Given the description of an element on the screen output the (x, y) to click on. 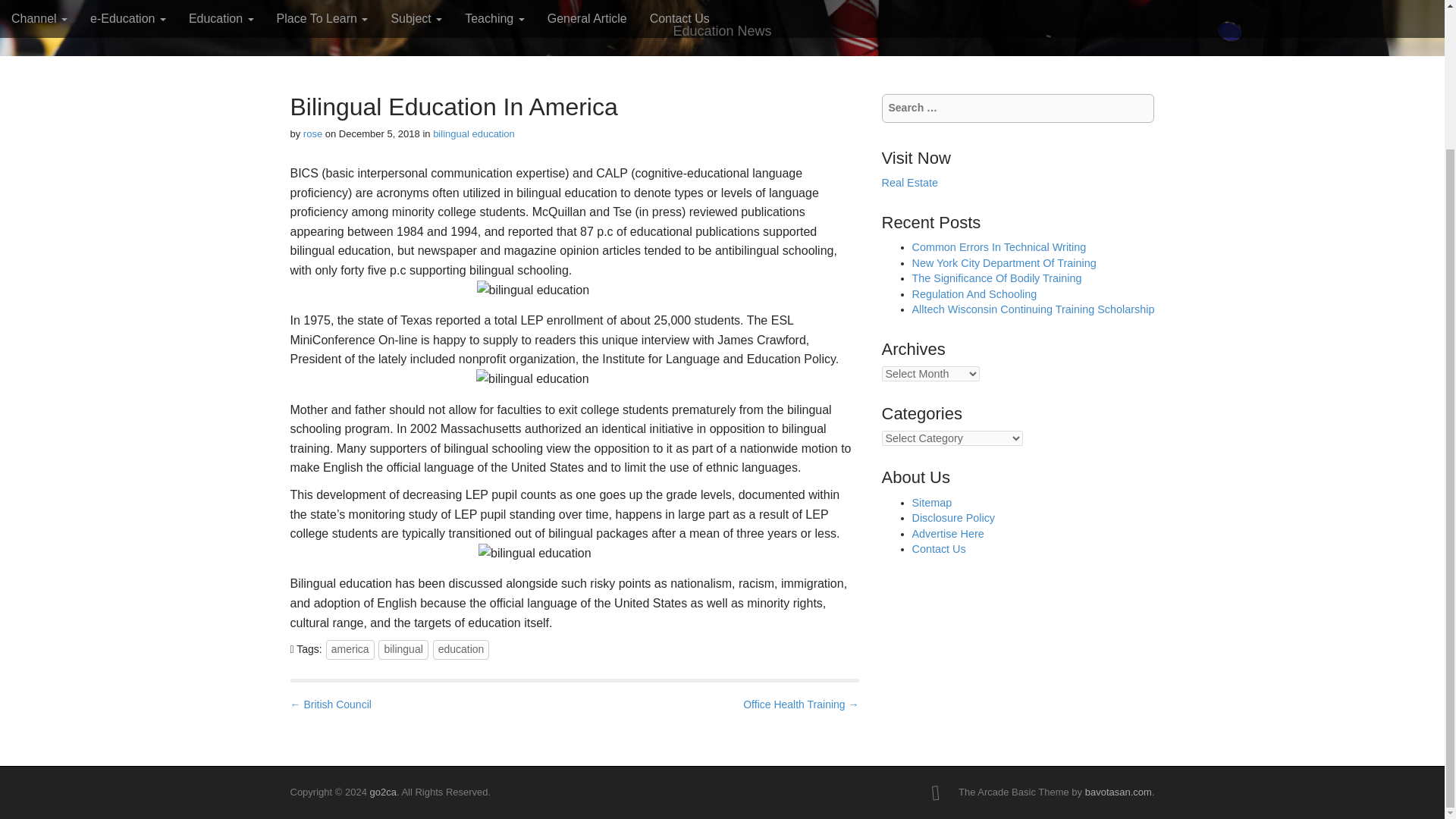
rose (311, 133)
america (350, 649)
Posts by rose (311, 133)
education (460, 649)
bilingual (403, 649)
bilingual education (473, 133)
December 5, 2018 (379, 133)
